Given the description of an element on the screen output the (x, y) to click on. 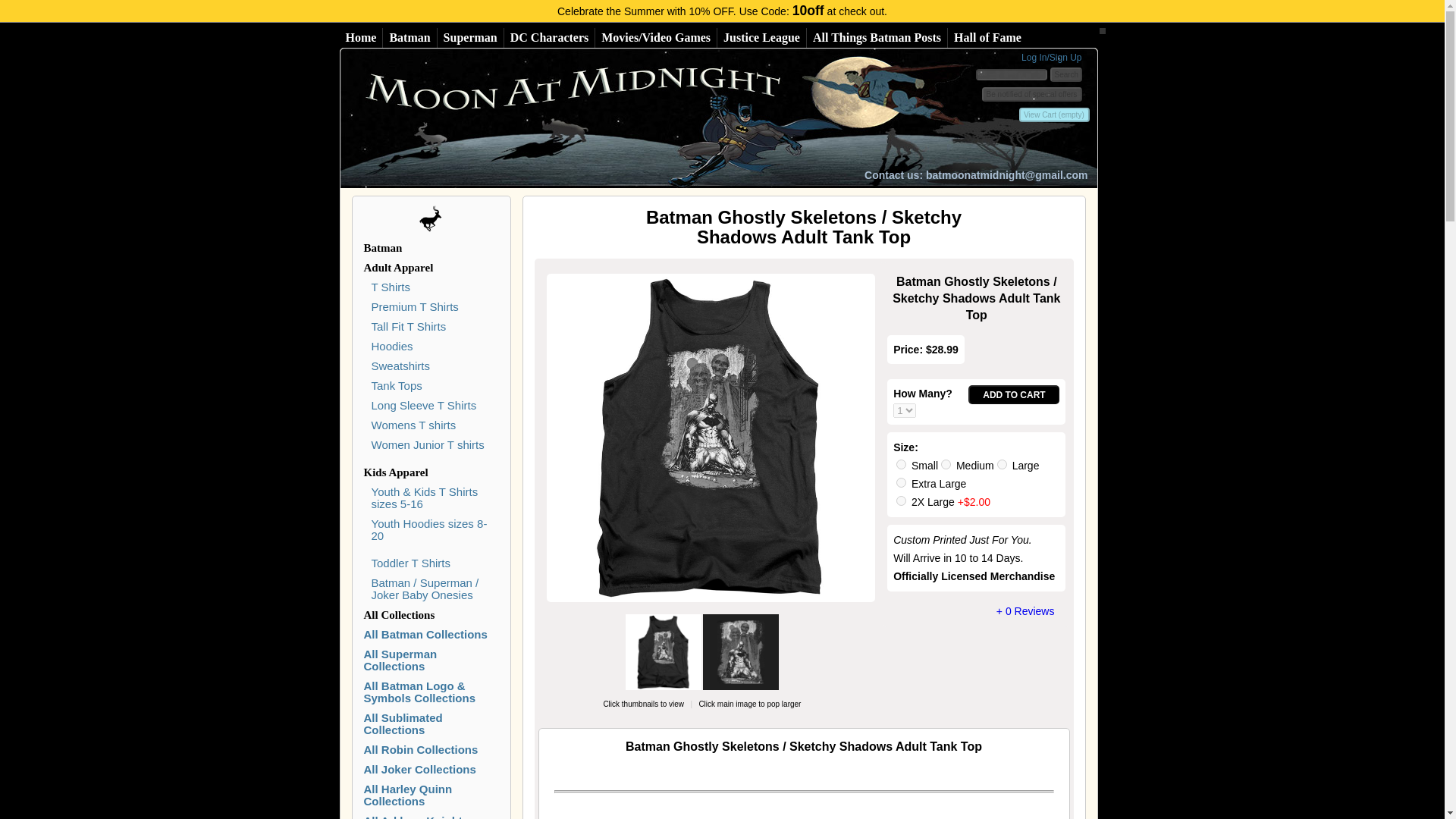
Medium (945, 464)
Premium T Shirts (414, 306)
Home (361, 37)
All Things Batman Posts (876, 37)
Search (1065, 74)
Sign up to be notified of specials and sales! (1031, 93)
Large (1002, 464)
Batman (409, 37)
Extra Large (900, 482)
HOME (604, 118)
